Given the description of an element on the screen output the (x, y) to click on. 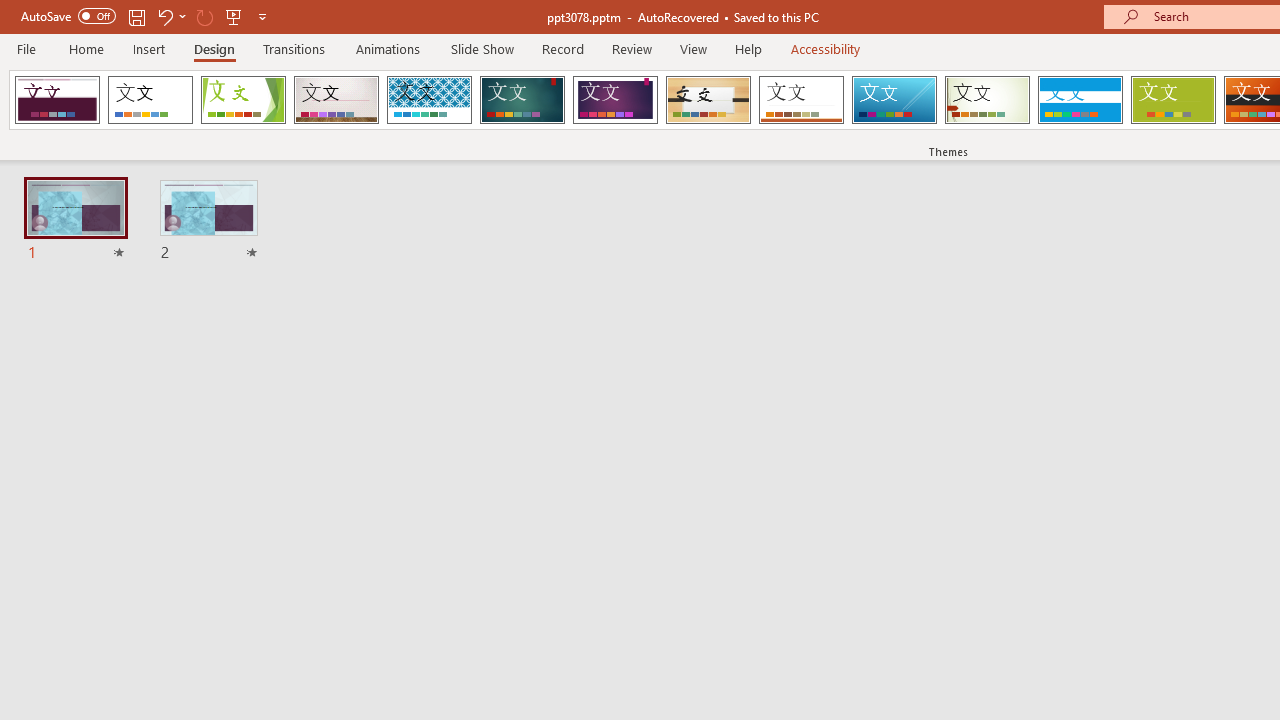
Ion (522, 100)
Office Theme (150, 100)
Slice (893, 100)
Basis (1172, 100)
Banded (1080, 100)
